Given the description of an element on the screen output the (x, y) to click on. 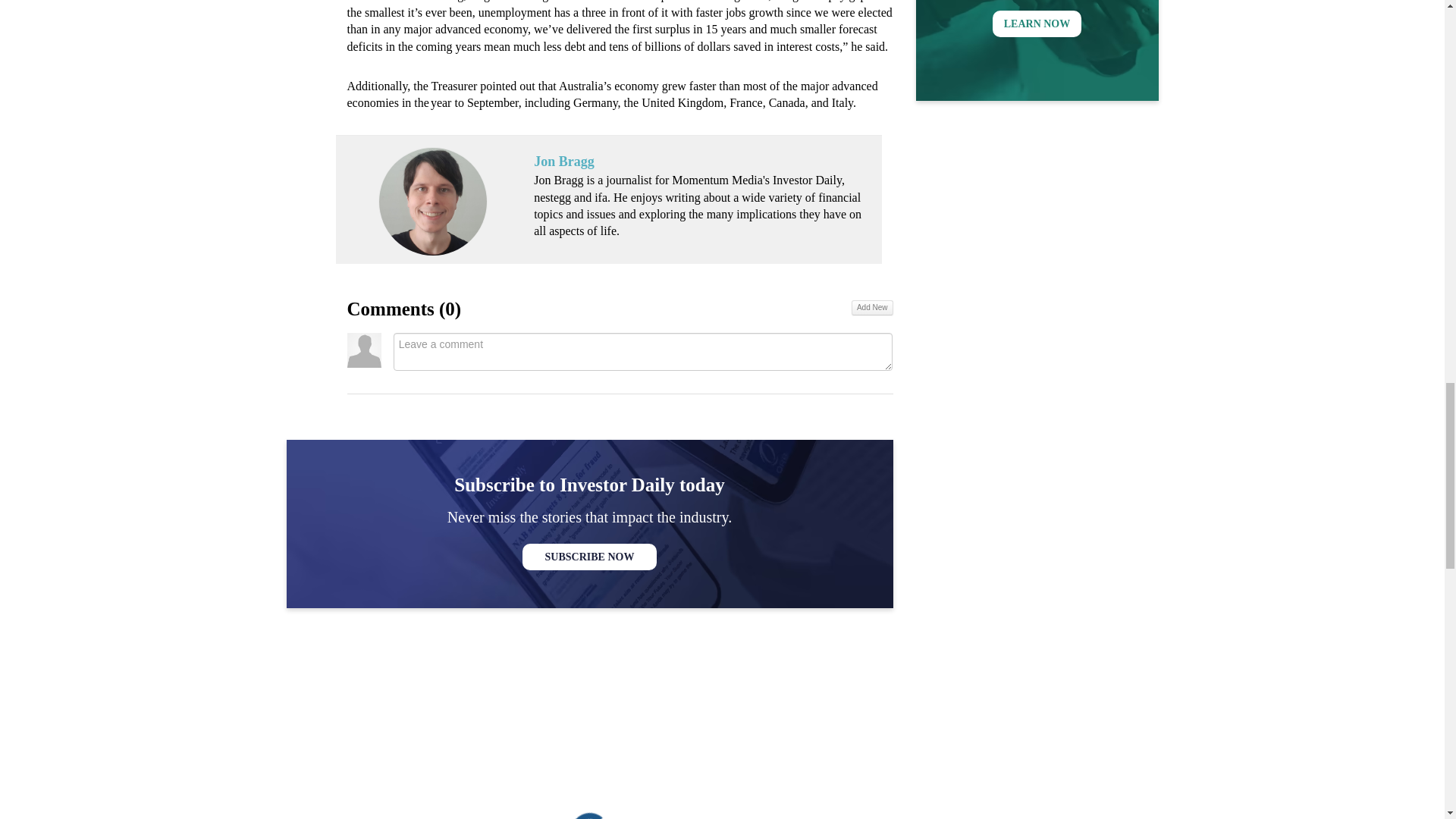
Add New (872, 307)
